Given the description of an element on the screen output the (x, y) to click on. 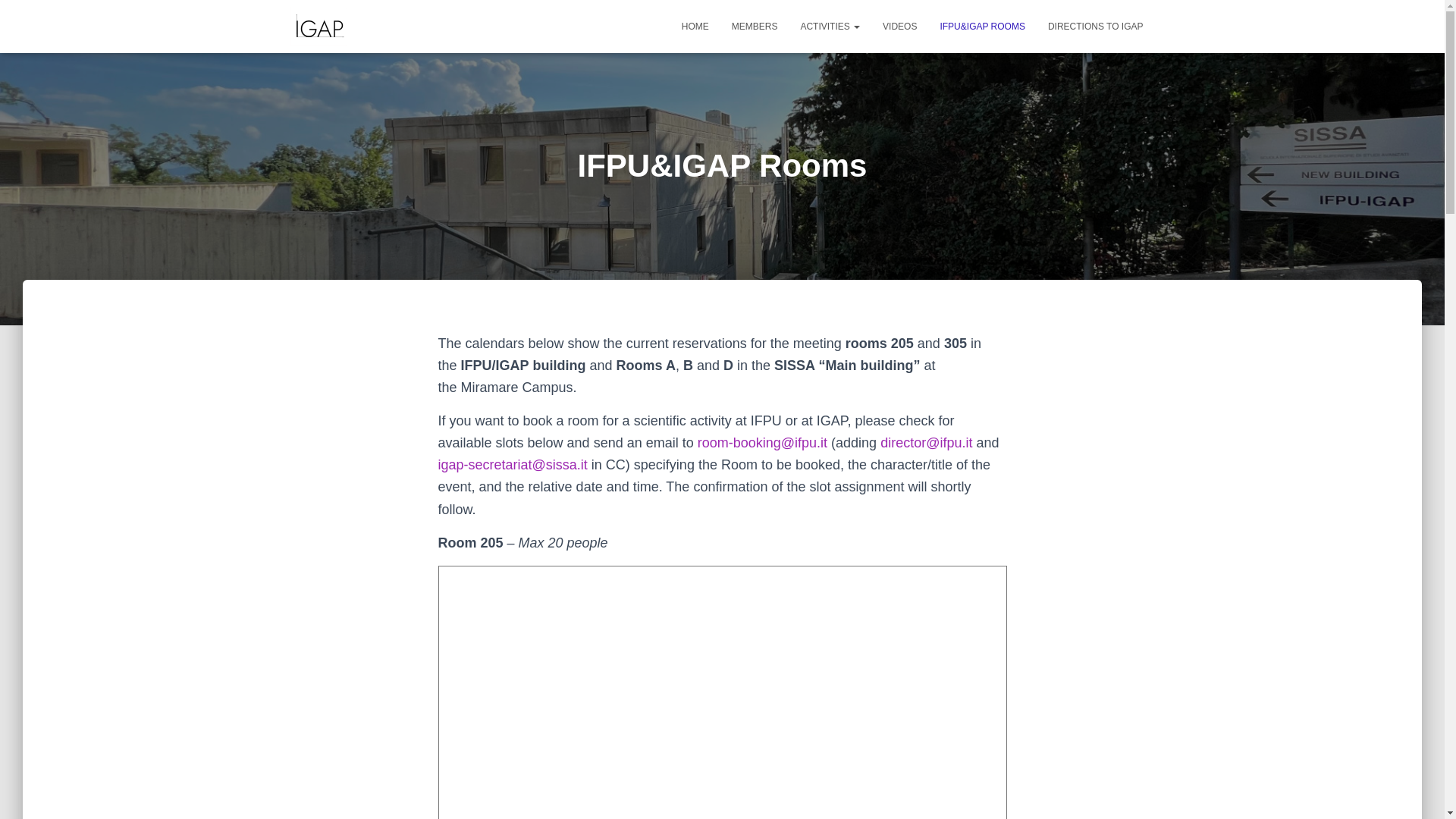
MEMBERS (754, 26)
VIDEOS (899, 26)
DIRECTIONS TO IGAP (1095, 26)
Directions to IGAP (1095, 26)
iGAP (318, 26)
Members (754, 26)
Home (694, 26)
ACTIVITIES (829, 26)
HOME (694, 26)
Activities (829, 26)
Videos (899, 26)
